Given the description of an element on the screen output the (x, y) to click on. 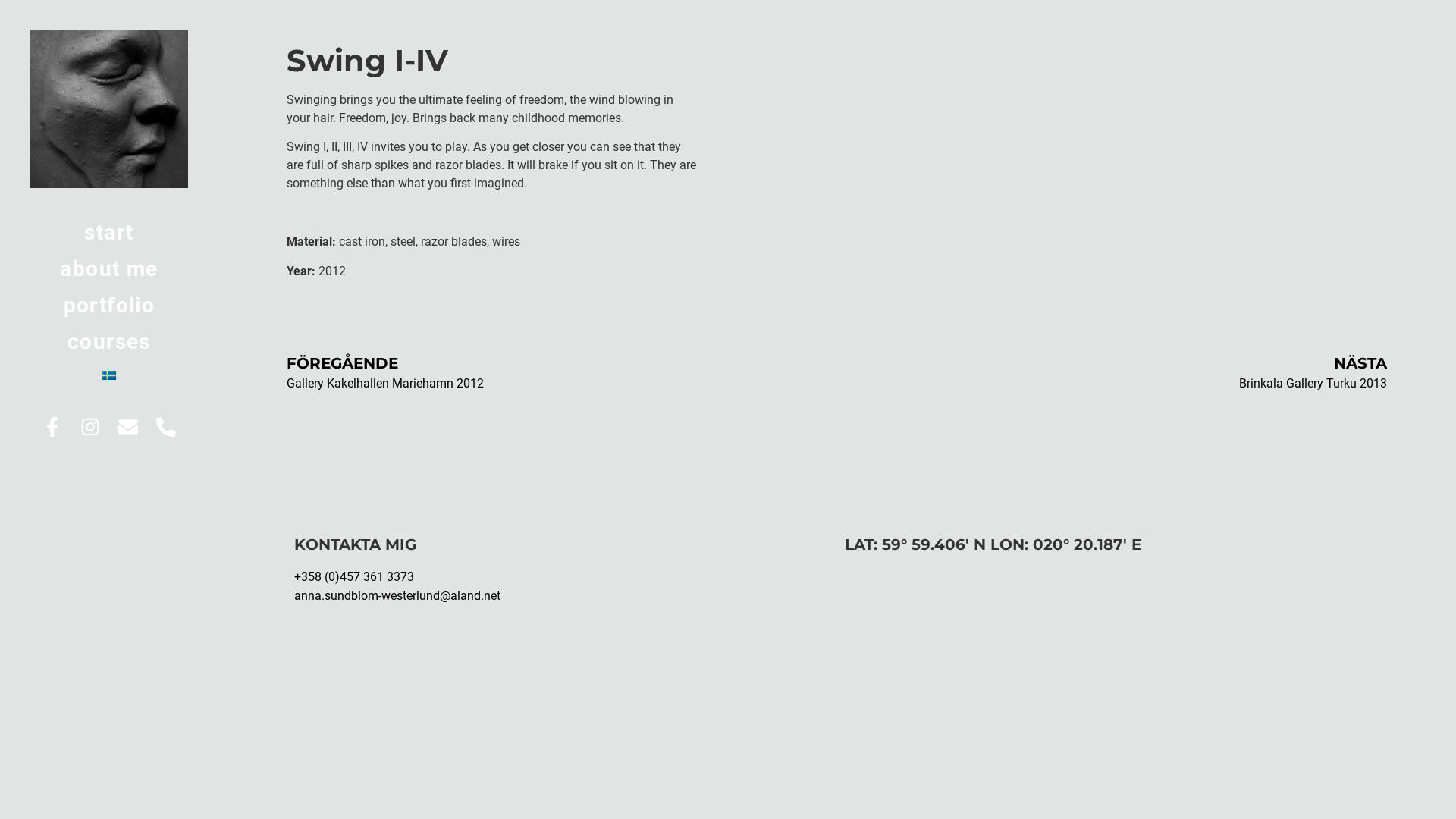
+358 (0)457 361 3373 Element type: text (354, 576)
start Element type: text (108, 232)
anna.sundblom-westerlund@aland.net Element type: text (397, 595)
courses Element type: text (108, 341)
portfolio Element type: text (108, 305)
about me Element type: text (108, 268)
